Given the description of an element on the screen output the (x, y) to click on. 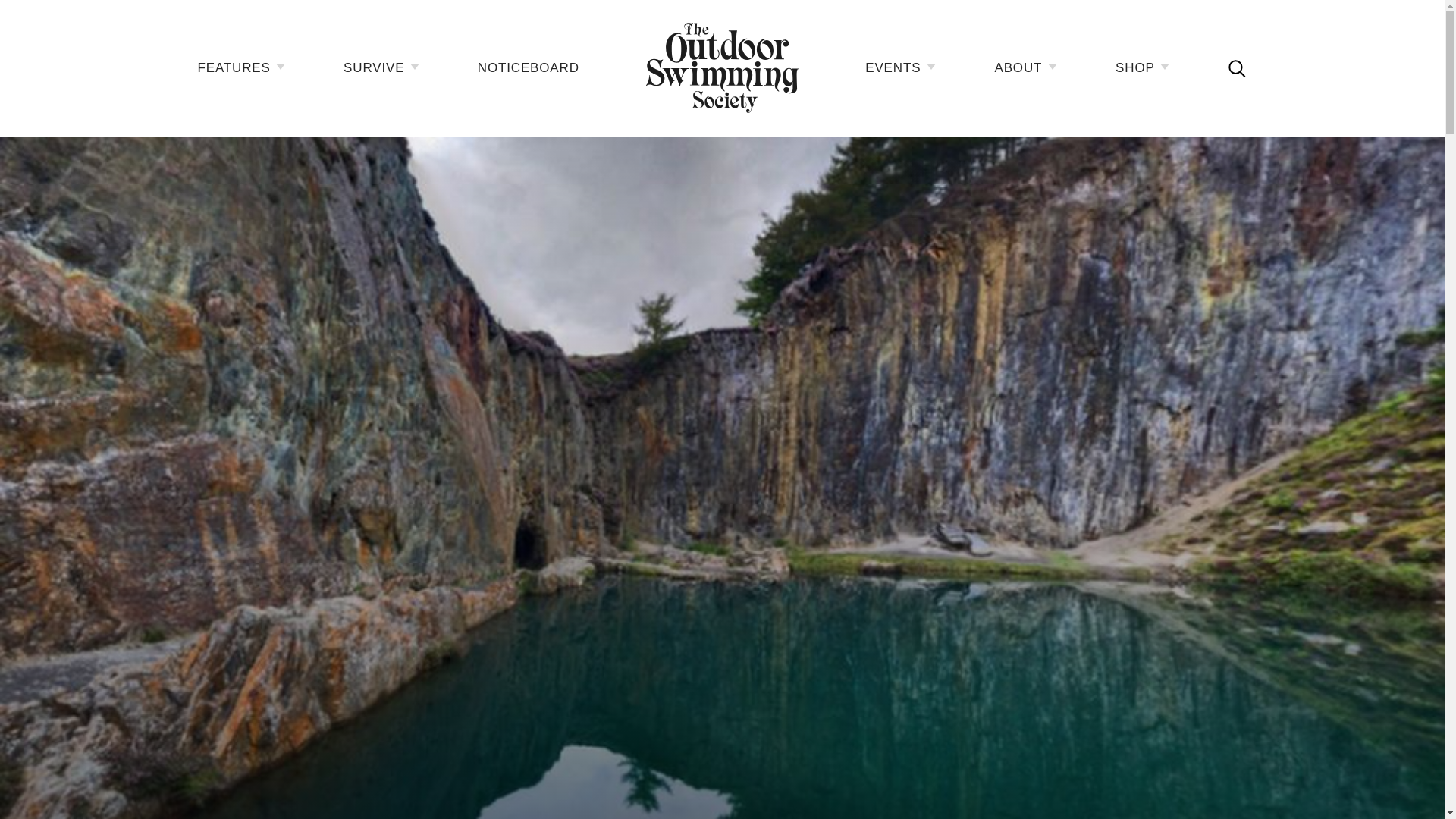
EVENTS (900, 67)
Features (240, 67)
FEATURES (240, 67)
ABOUT (1025, 67)
NOTICEBOARD (528, 67)
SURVIVE (381, 67)
Survive (381, 67)
SHOP (1142, 67)
